Given the description of an element on the screen output the (x, y) to click on. 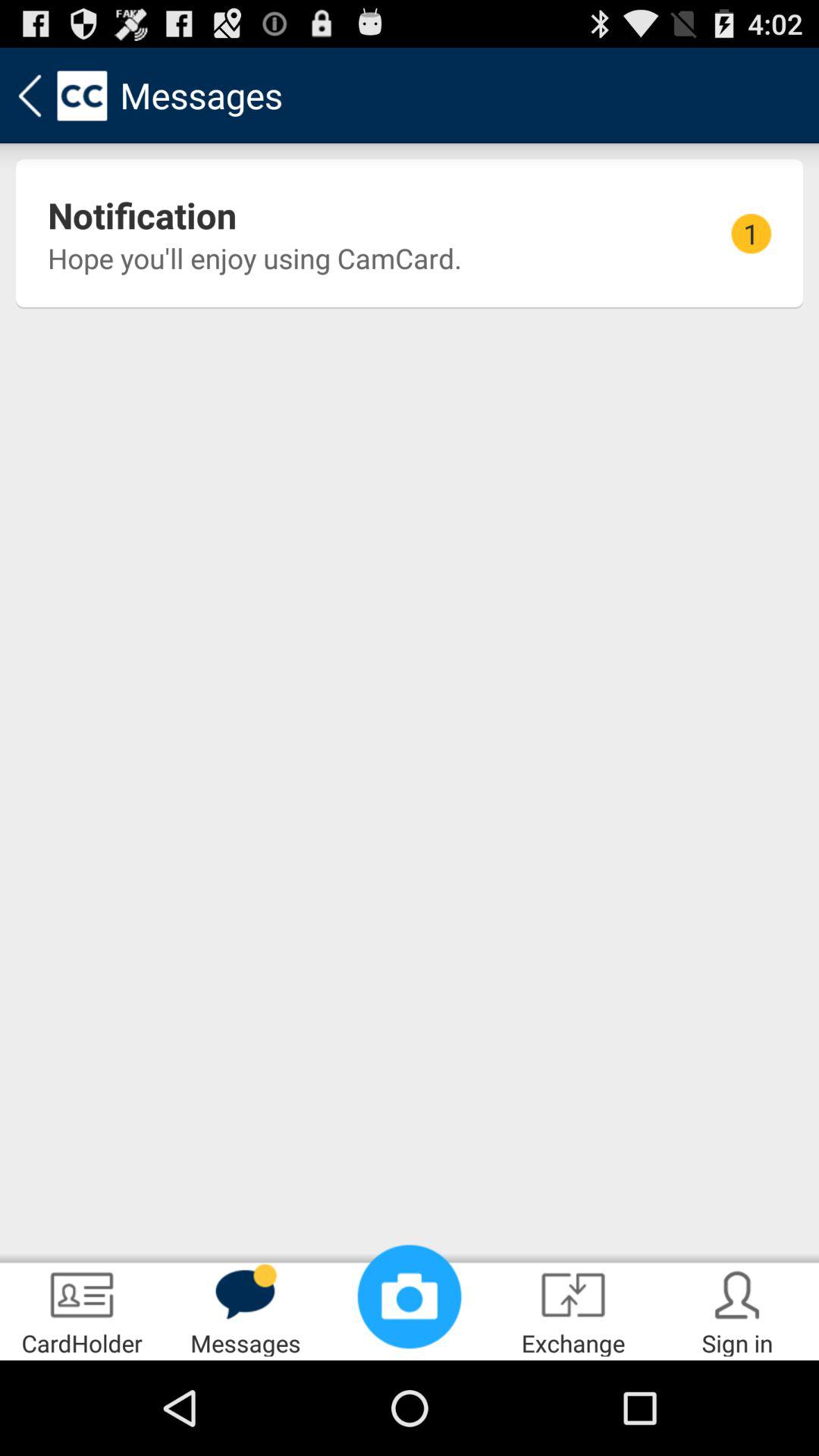
choose icon to the left of exchange item (409, 1296)
